Given the description of an element on the screen output the (x, y) to click on. 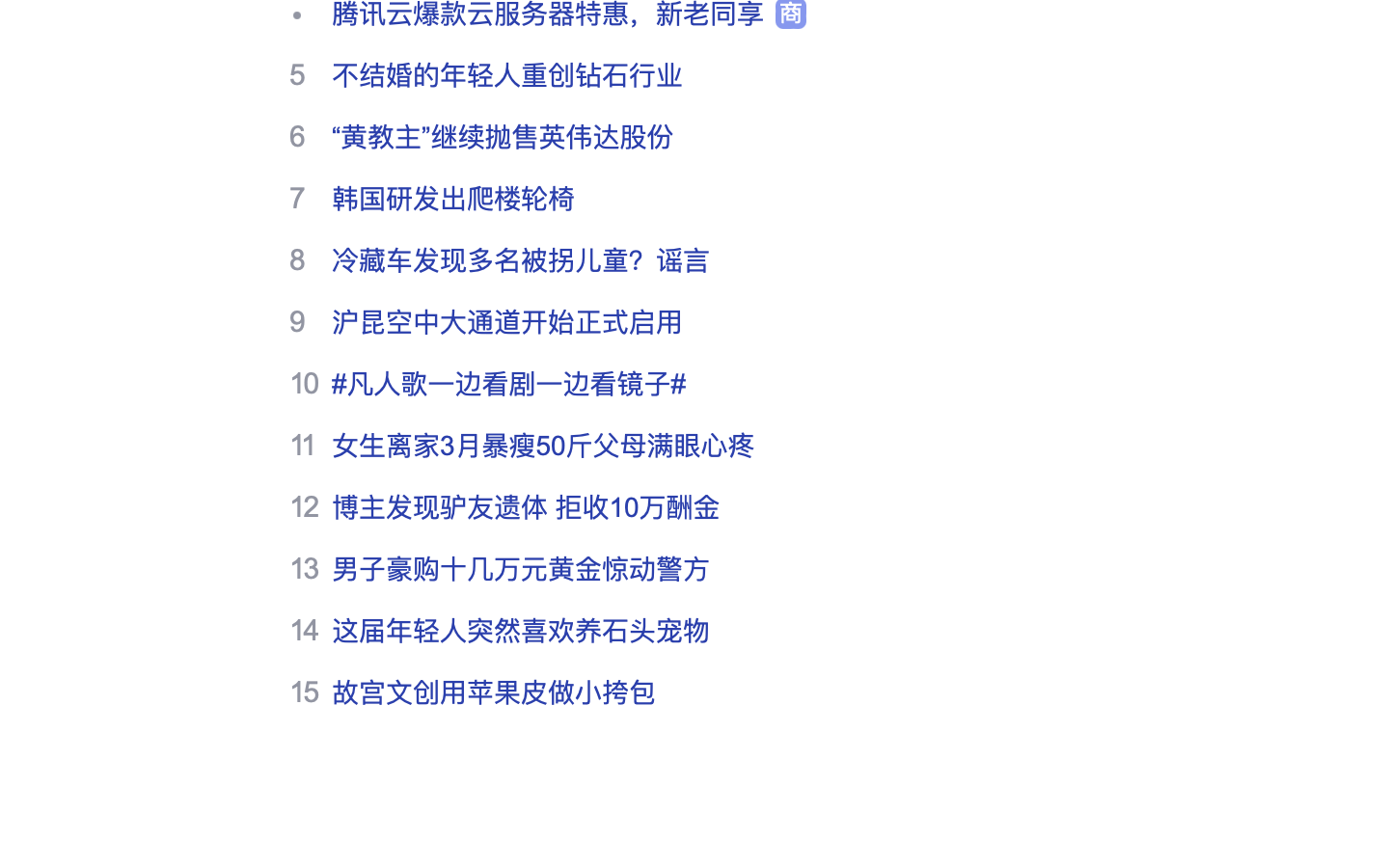
5 Element type: AXStaticText (296, 73)
10 Element type: AXStaticText (303, 382)
不结婚的年轻人重创钻石行业 Element type: AXStaticText (506, 74)
冷藏车发现多名被拐儿童？谣言 Element type: AXStaticText (520, 259)
11 Element type: AXStaticText (302, 444)
